Given the description of an element on the screen output the (x, y) to click on. 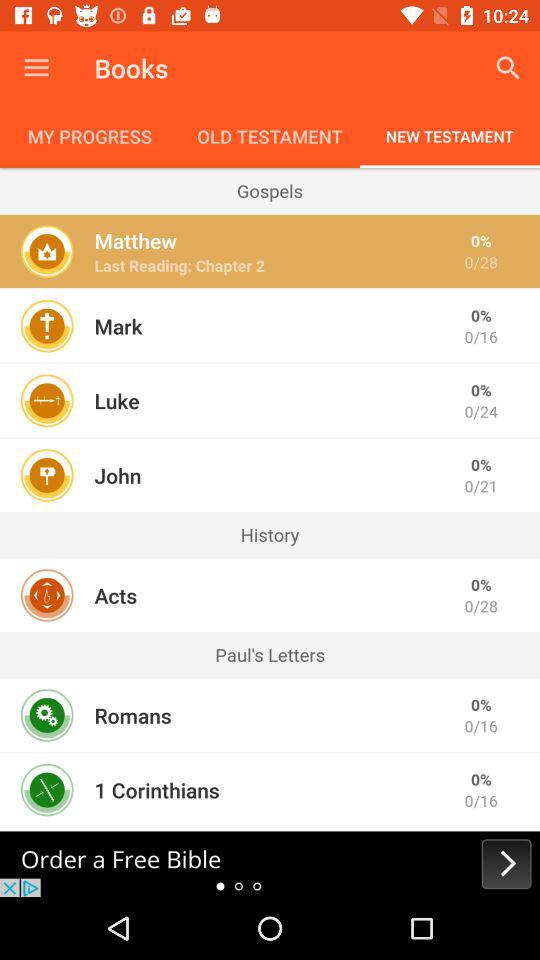
choose the icon below the paul's letters (270, 677)
